Given the description of an element on the screen output the (x, y) to click on. 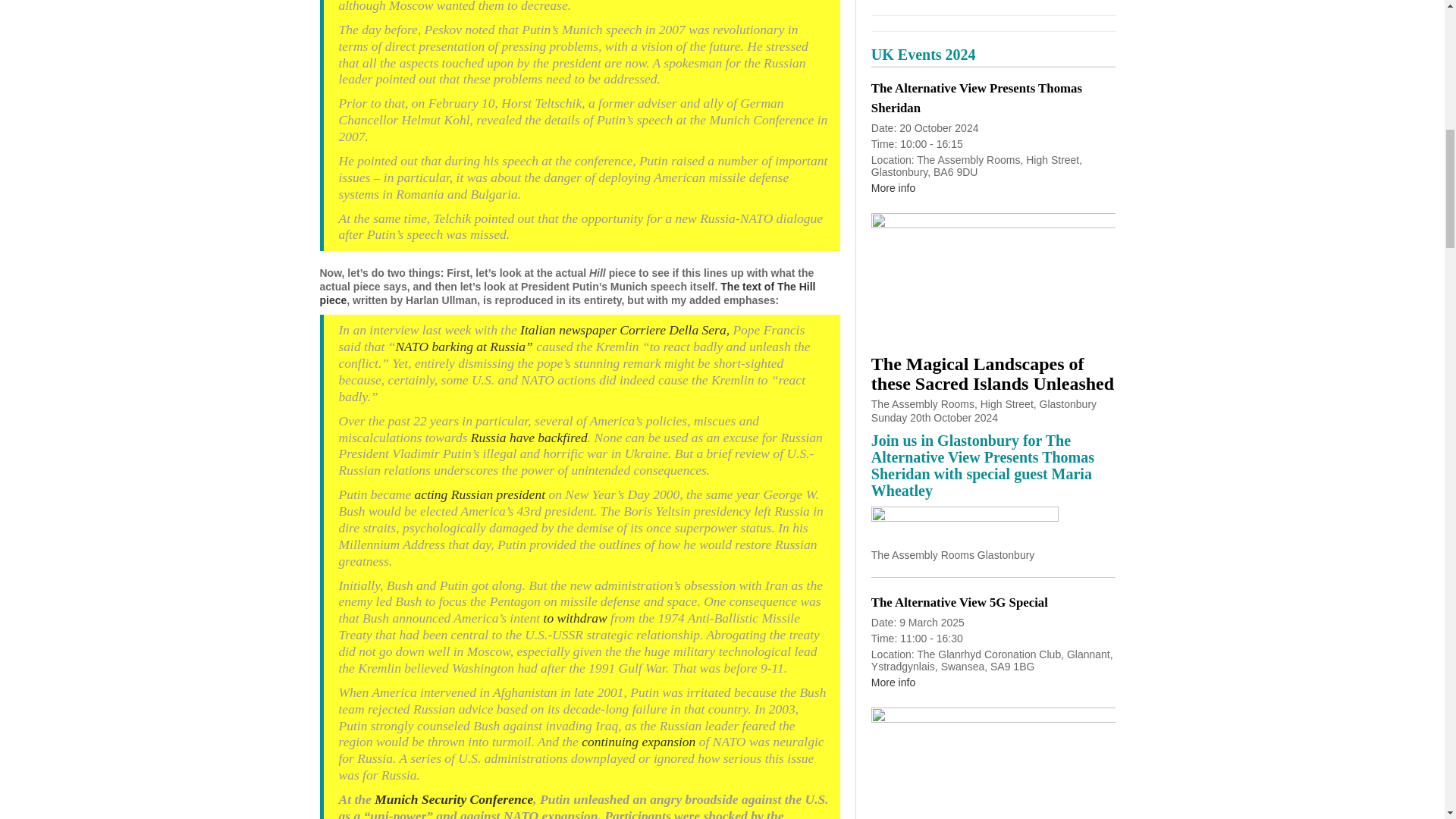
acting Russian president (479, 494)
The text of The Hill piece (567, 293)
to withdraw  (577, 617)
continuing expansion  (639, 741)
Munich Security Conference (453, 798)
Russia have backfired (529, 437)
Italian newspaper Corriere Della Sera, (624, 329)
